Given the description of an element on the screen output the (x, y) to click on. 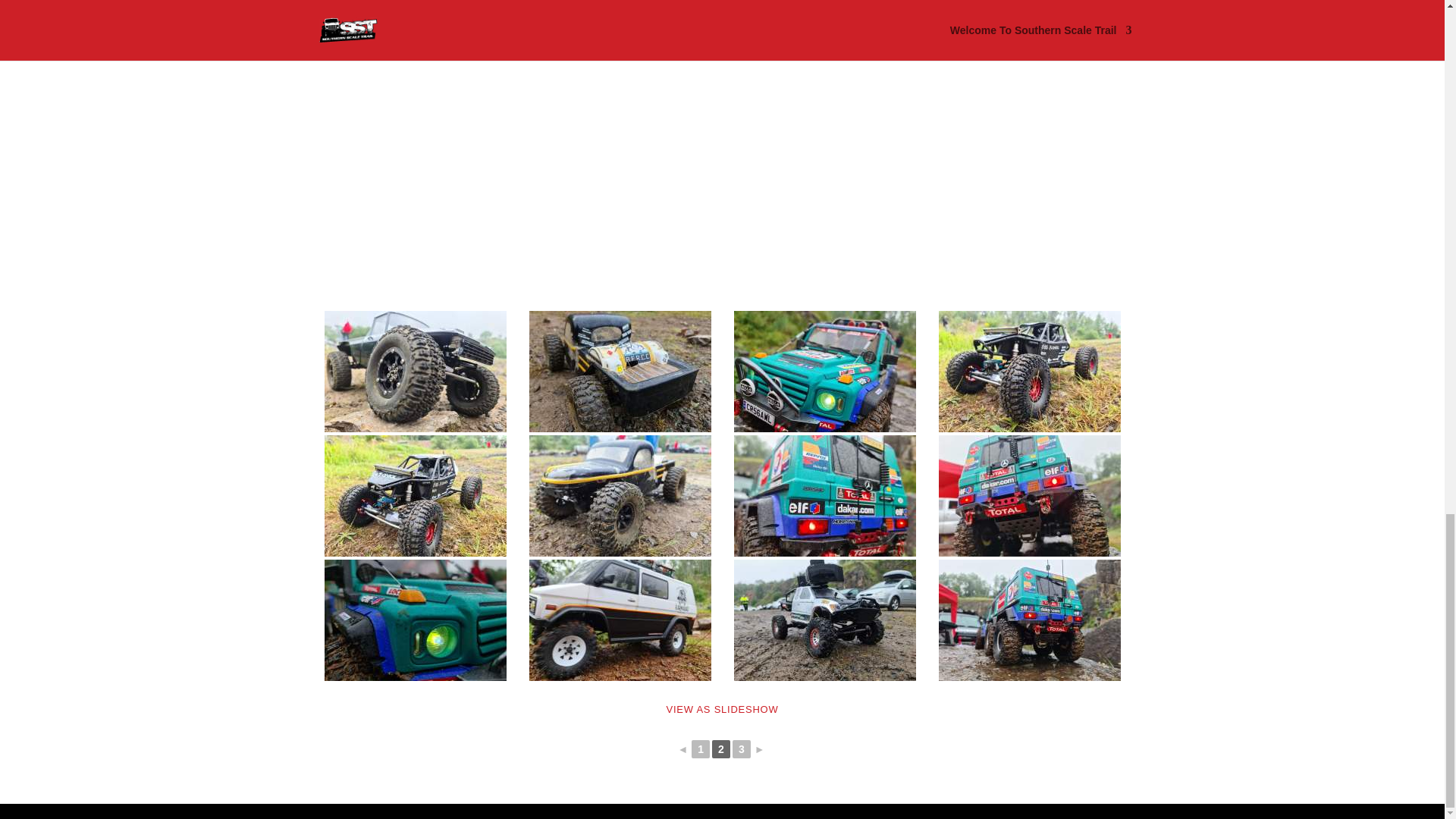
1 (700, 749)
VIEW AS SLIDESHOW (722, 708)
